Given the description of an element on the screen output the (x, y) to click on. 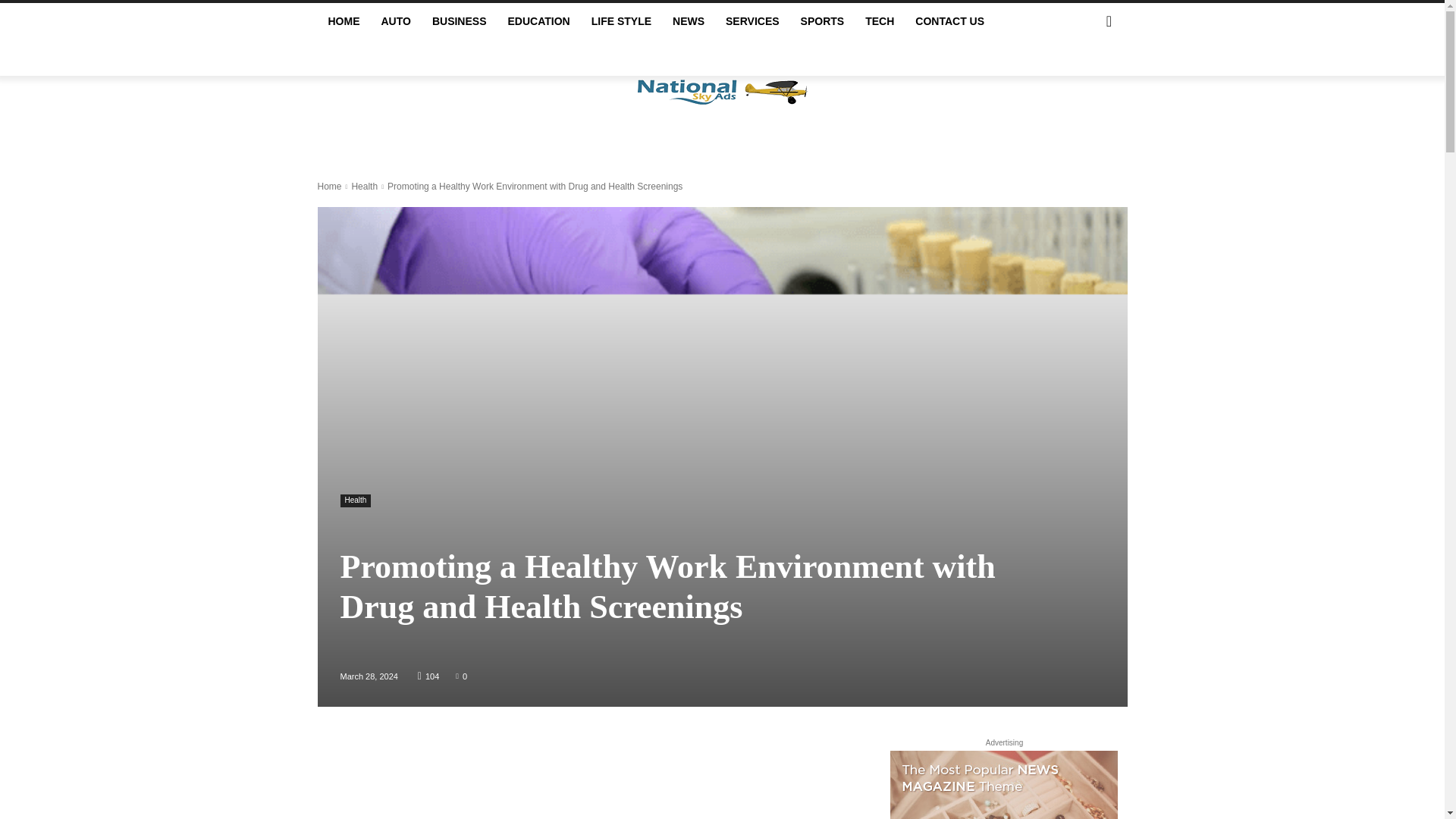
View all posts in Health (363, 185)
Home (328, 185)
SPORTS (823, 21)
SERVICES (752, 21)
Health (355, 500)
BUSINESS (459, 21)
0 (461, 675)
Health (363, 185)
CONTACT US (949, 21)
